Given the description of an element on the screen output the (x, y) to click on. 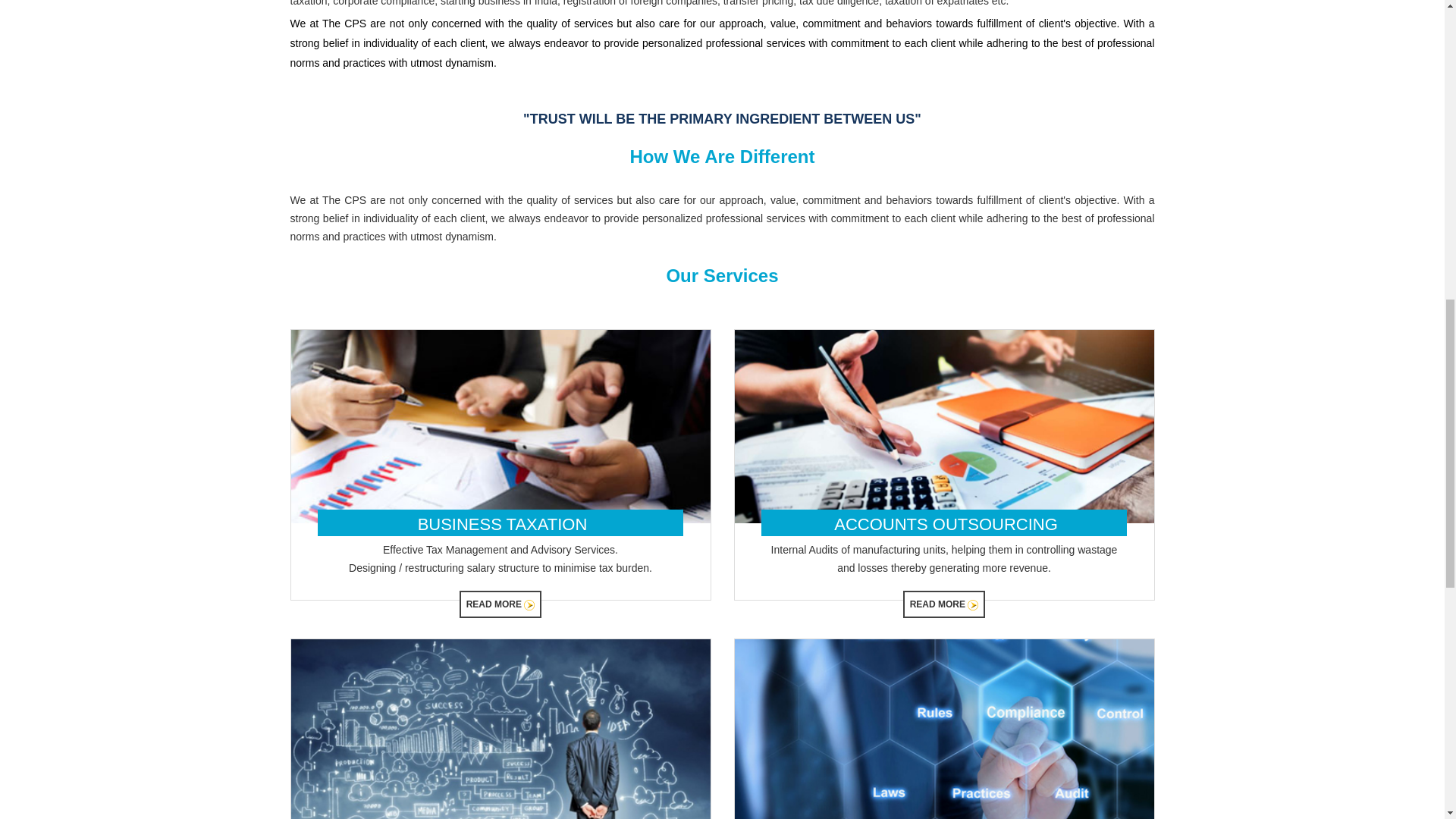
READ MORE (943, 604)
READ MORE (500, 604)
